Given the description of an element on the screen output the (x, y) to click on. 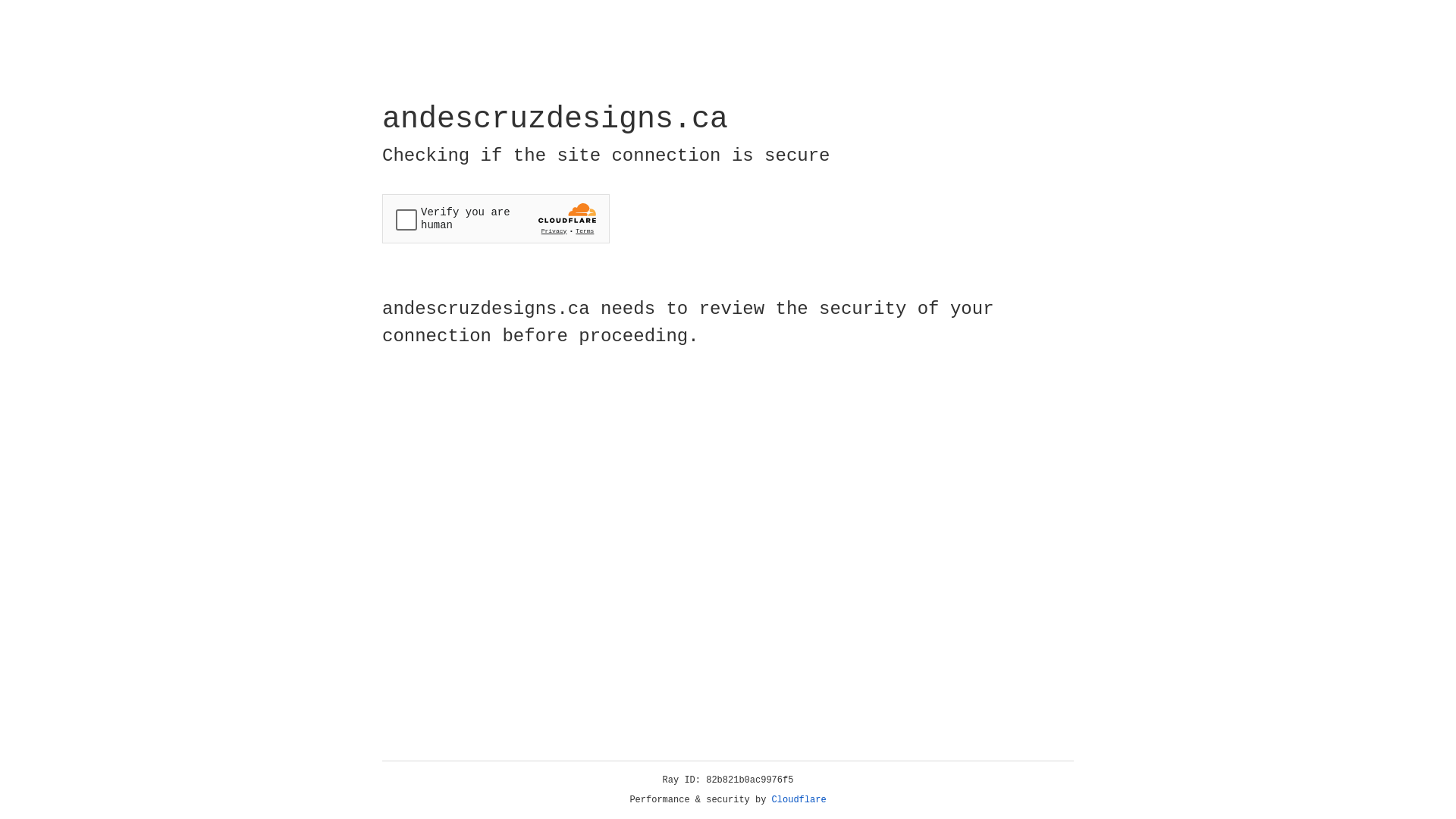
Widget containing a Cloudflare security challenge Element type: hover (495, 218)
Cloudflare Element type: text (798, 799)
